Given the description of an element on the screen output the (x, y) to click on. 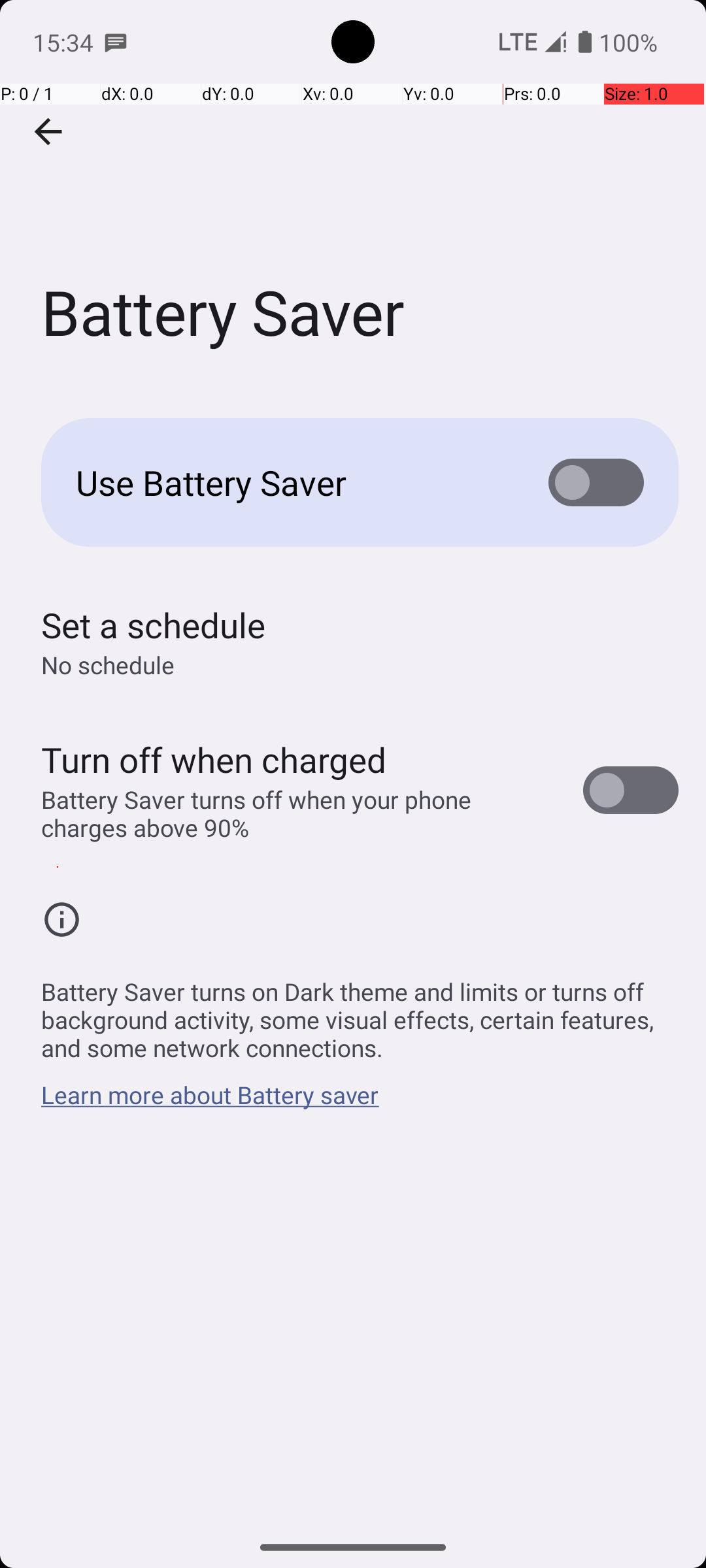
Use Battery Saver Element type: android.widget.TextView (291, 482)
Set a schedule Element type: android.widget.TextView (153, 624)
No schedule Element type: android.widget.TextView (107, 664)
Turn off when charged Element type: android.widget.TextView (213, 759)
Battery Saver turns off when your phone charges above 90% Element type: android.widget.TextView (298, 813)
Battery Saver turns on Dark theme and limits or turns off background activity, some visual effects, certain features, and some network connections. Element type: android.widget.TextView (359, 1012)
Learn more about Battery saver Element type: android.widget.TextView (210, 1101)
